Given the description of an element on the screen output the (x, y) to click on. 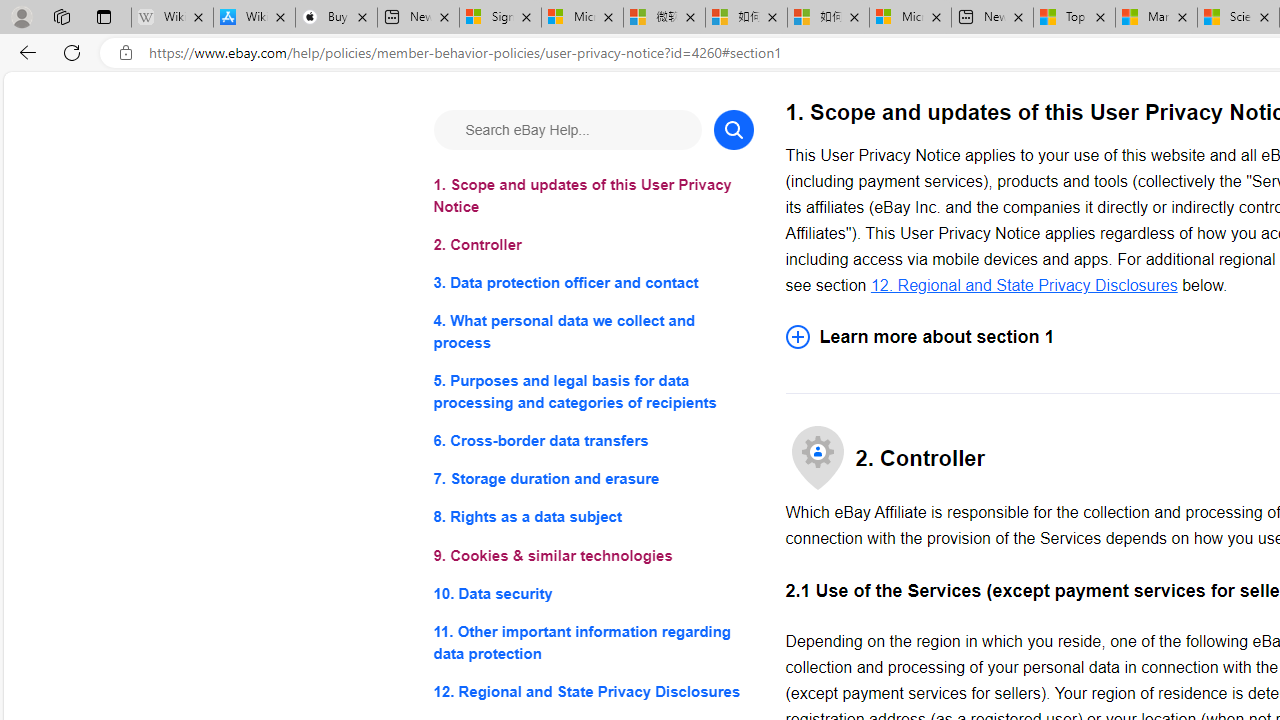
Search eBay Help... (566, 129)
1. Scope and updates of this User Privacy Notice (592, 196)
8. Rights as a data subject (592, 517)
11. Other important information regarding data protection (592, 642)
2. Controller (592, 245)
11. Other important information regarding data protection (592, 642)
6. Cross-border data transfers (592, 440)
